Given the description of an element on the screen output the (x, y) to click on. 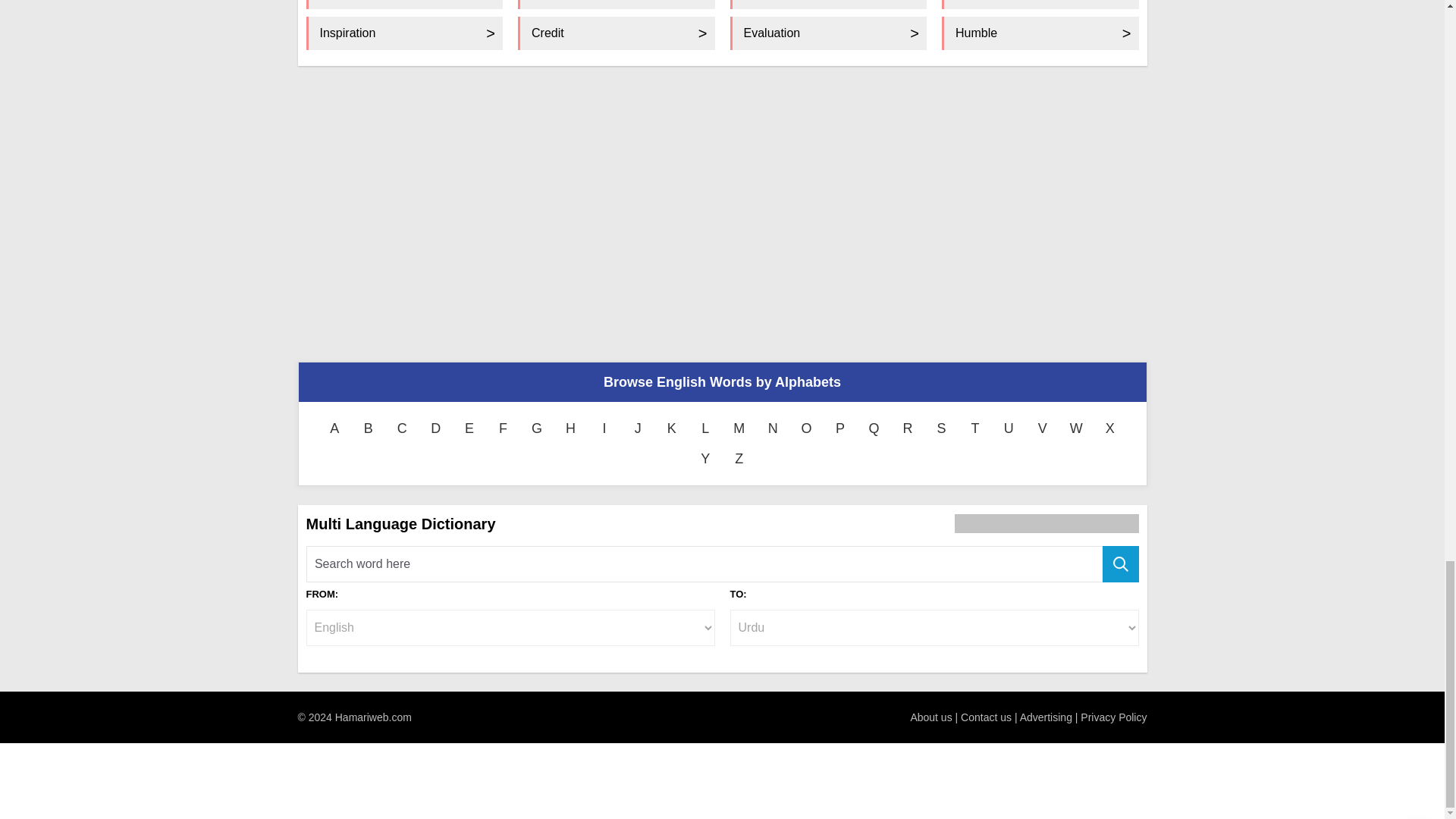
Credit (616, 32)
Evaluation (827, 4)
Abandoned (404, 4)
Curious (1040, 4)
Intellectual (616, 4)
Inspiration (404, 32)
